Given the description of an element on the screen output the (x, y) to click on. 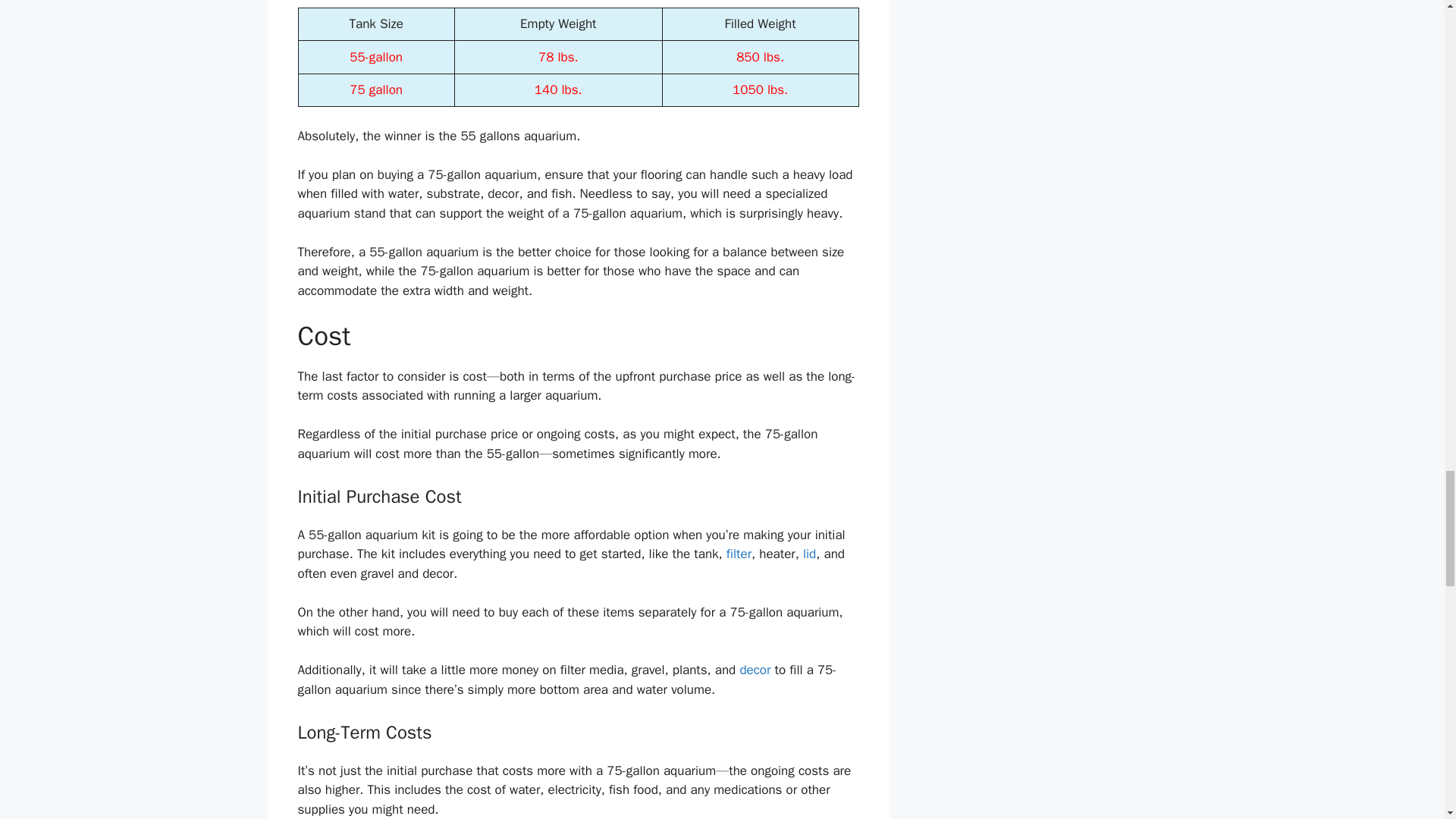
filter (738, 553)
decor (754, 669)
